Given the description of an element on the screen output the (x, y) to click on. 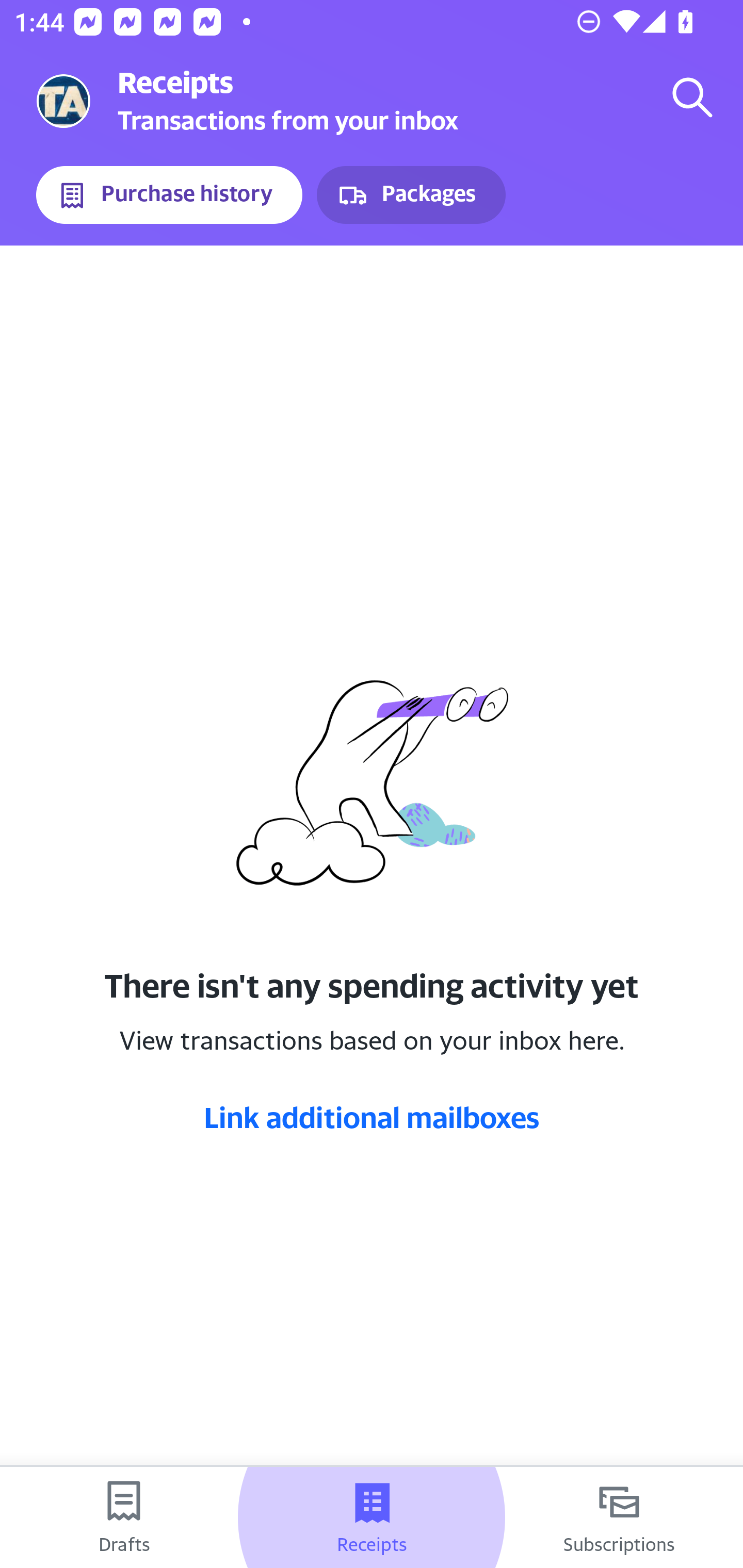
Search mail (692, 97)
Packages (410, 195)
Link additional mailboxes (371, 1117)
Drafts (123, 1517)
Receipts (371, 1517)
Subscriptions (619, 1517)
